Given the description of an element on the screen output the (x, y) to click on. 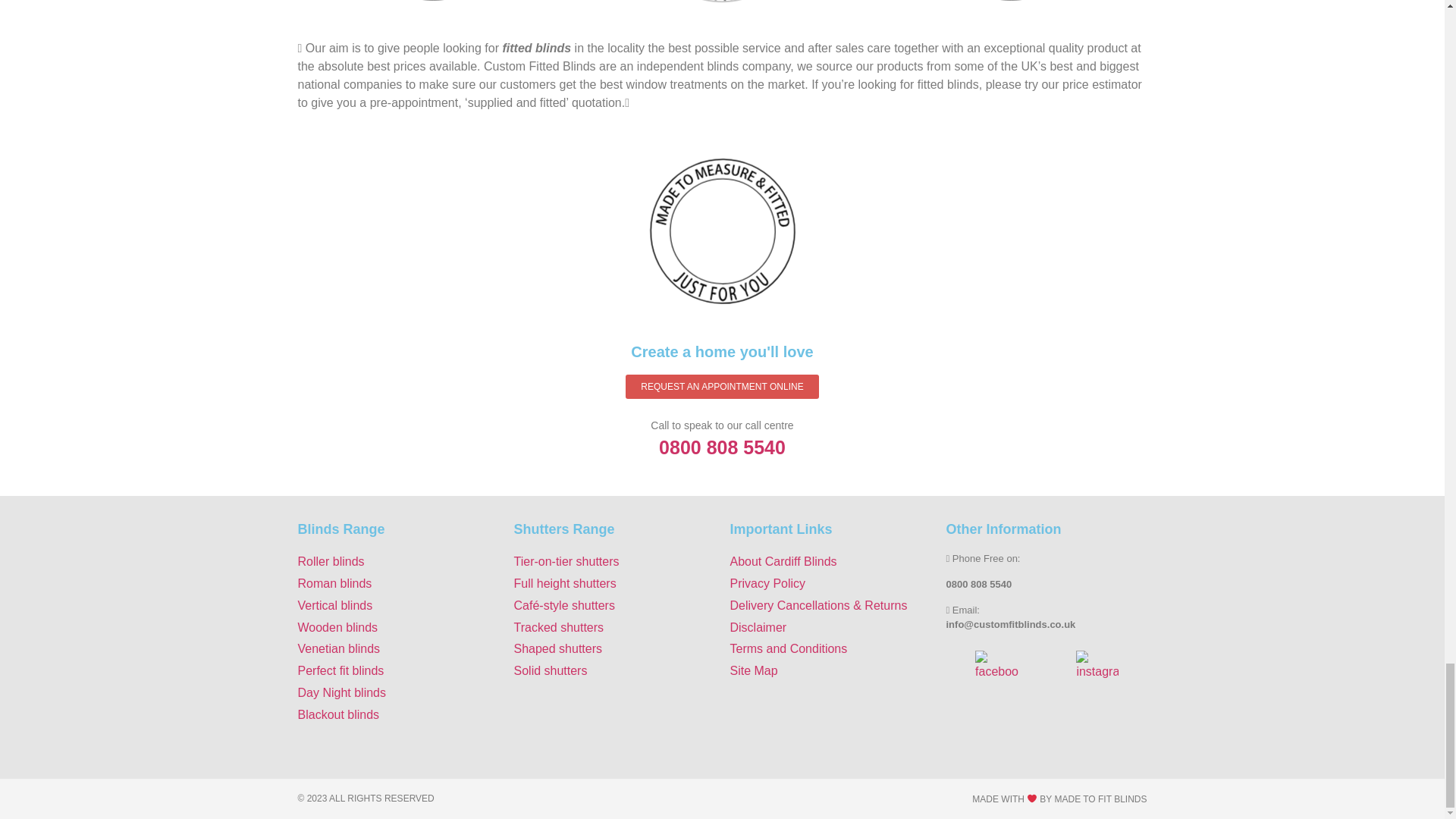
instagram.png (1096, 665)
facebook1.png (996, 665)
